Given the description of an element on the screen output the (x, y) to click on. 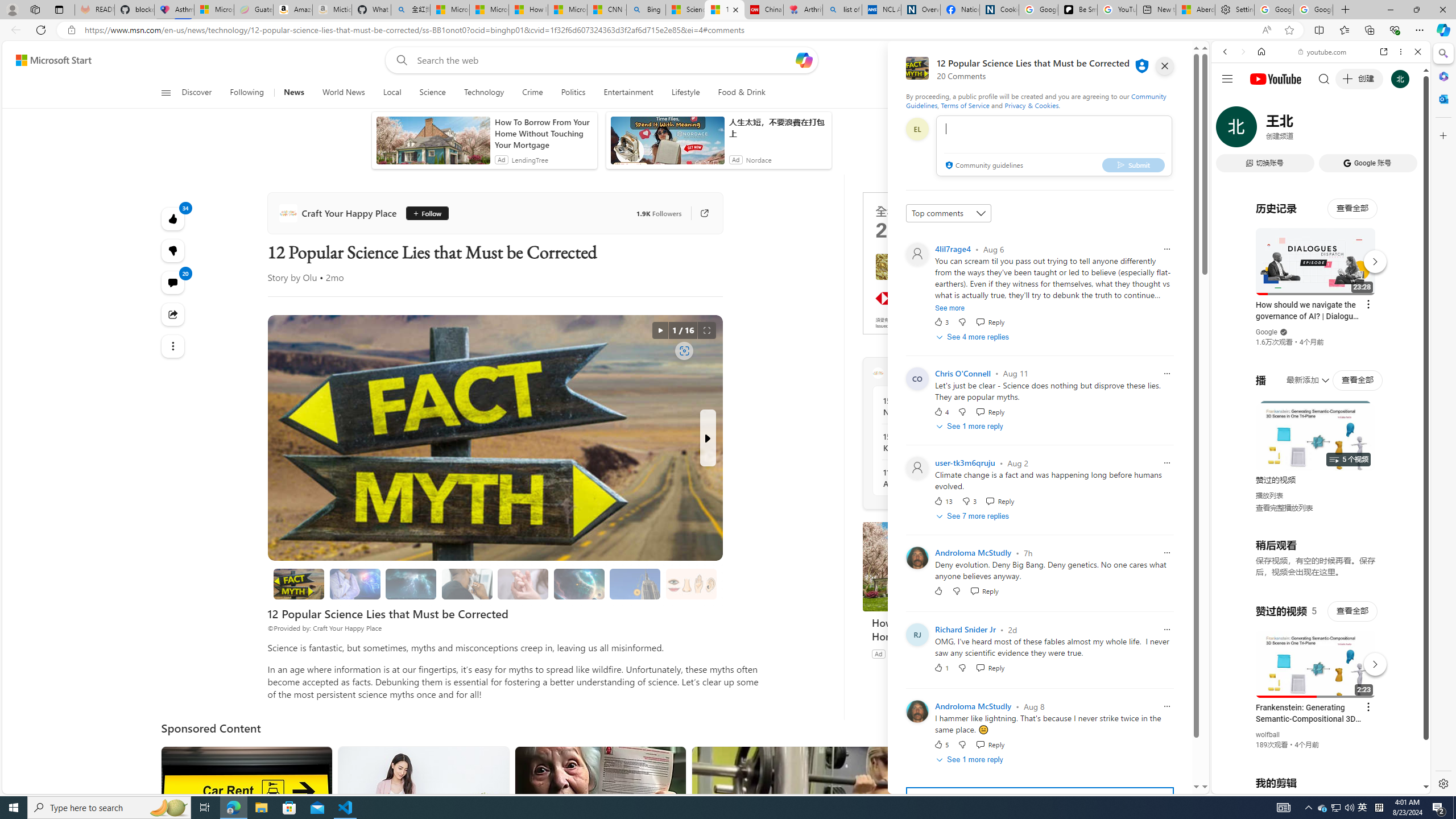
Next Slide (707, 437)
autorotate button (660, 330)
Shaving and Hair Growth (466, 583)
3 Like (940, 321)
Space Myths (578, 583)
anim-content (667, 144)
Open navigation menu (164, 92)
